Given the description of an element on the screen output the (x, y) to click on. 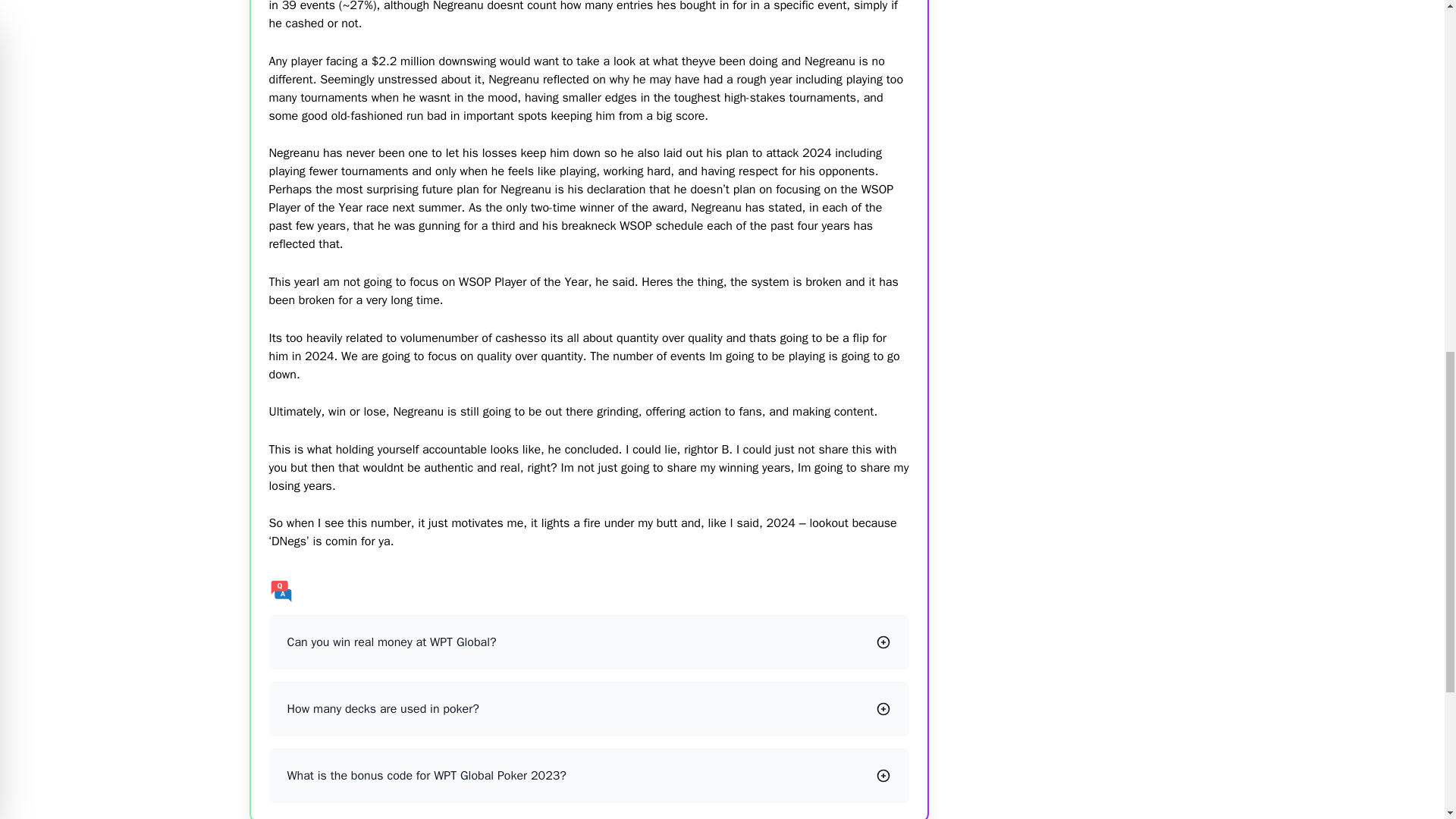
FAQs list (587, 590)
